Given the description of an element on the screen output the (x, y) to click on. 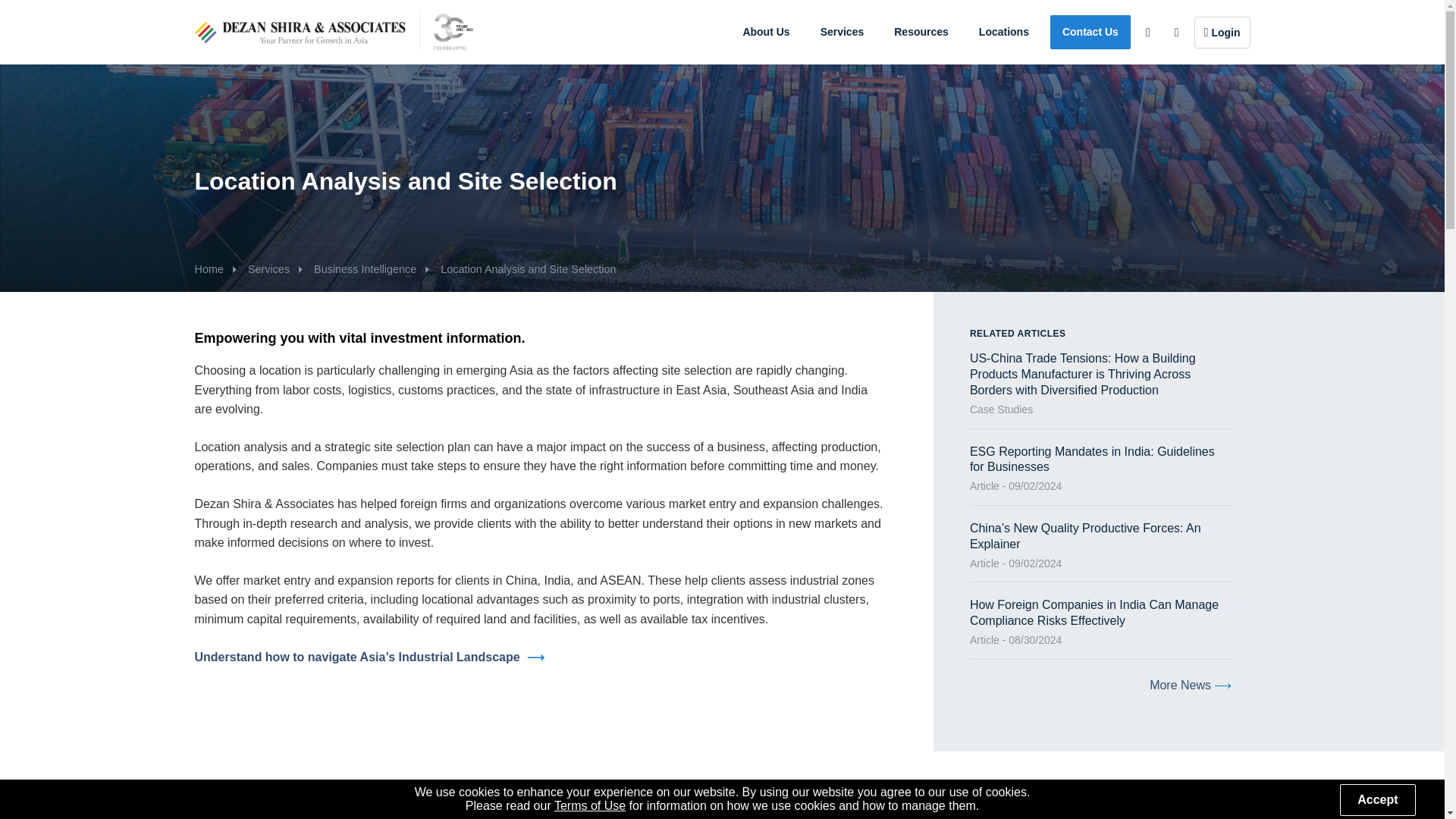
ESG Reporting Mandates in India: Guidelines for Businesses (1091, 459)
Services (842, 32)
About Us (765, 32)
